Given the description of an element on the screen output the (x, y) to click on. 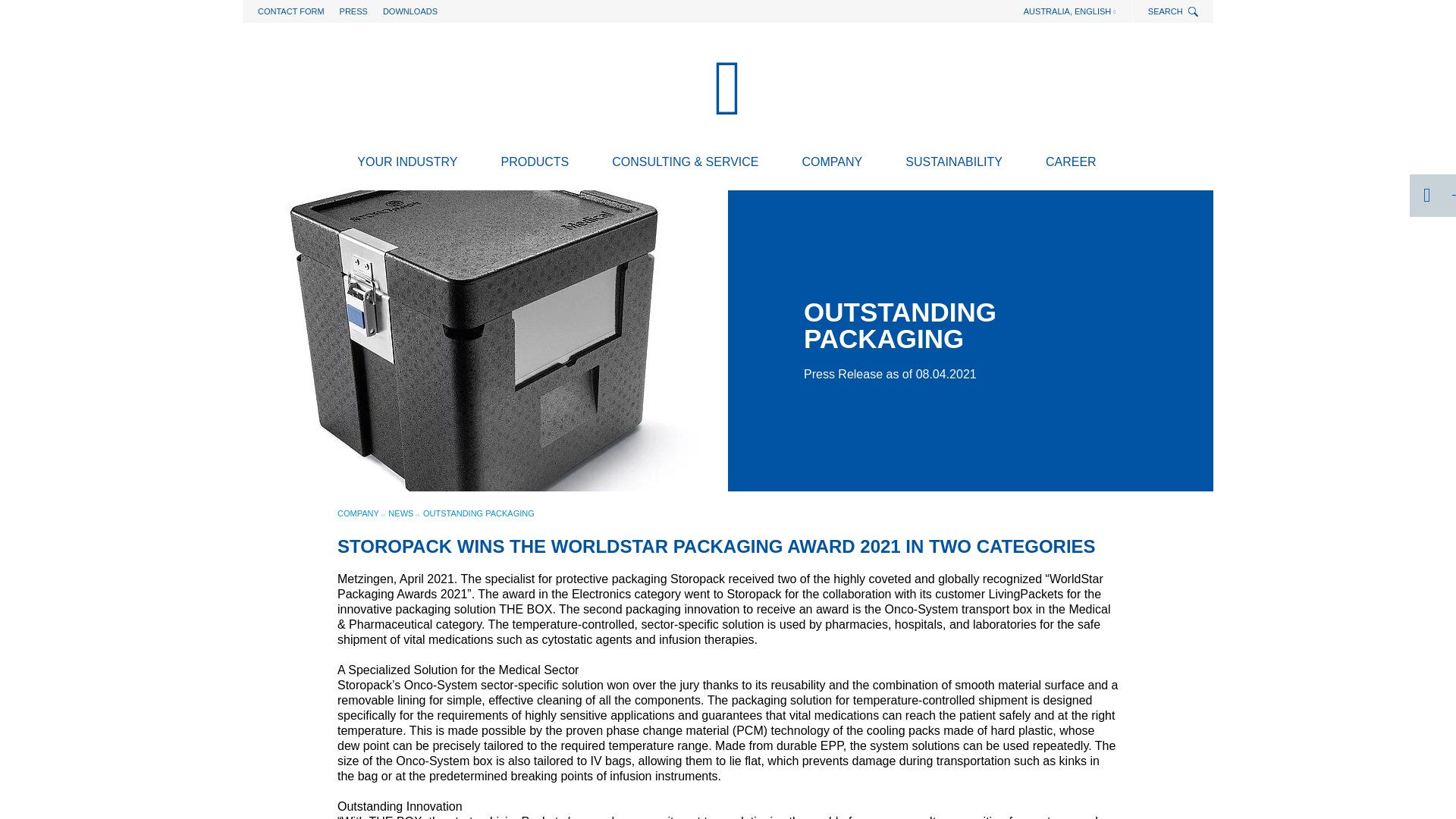
YOUR INDUSTRY (407, 165)
PRESS (353, 11)
Press (353, 11)
CONTACT FORM (290, 11)
Downloads (410, 11)
Your Industry (407, 165)
Contact Form (290, 11)
Switch Search (1194, 12)
DOWNLOADS (410, 11)
